Given the description of an element on the screen output the (x, y) to click on. 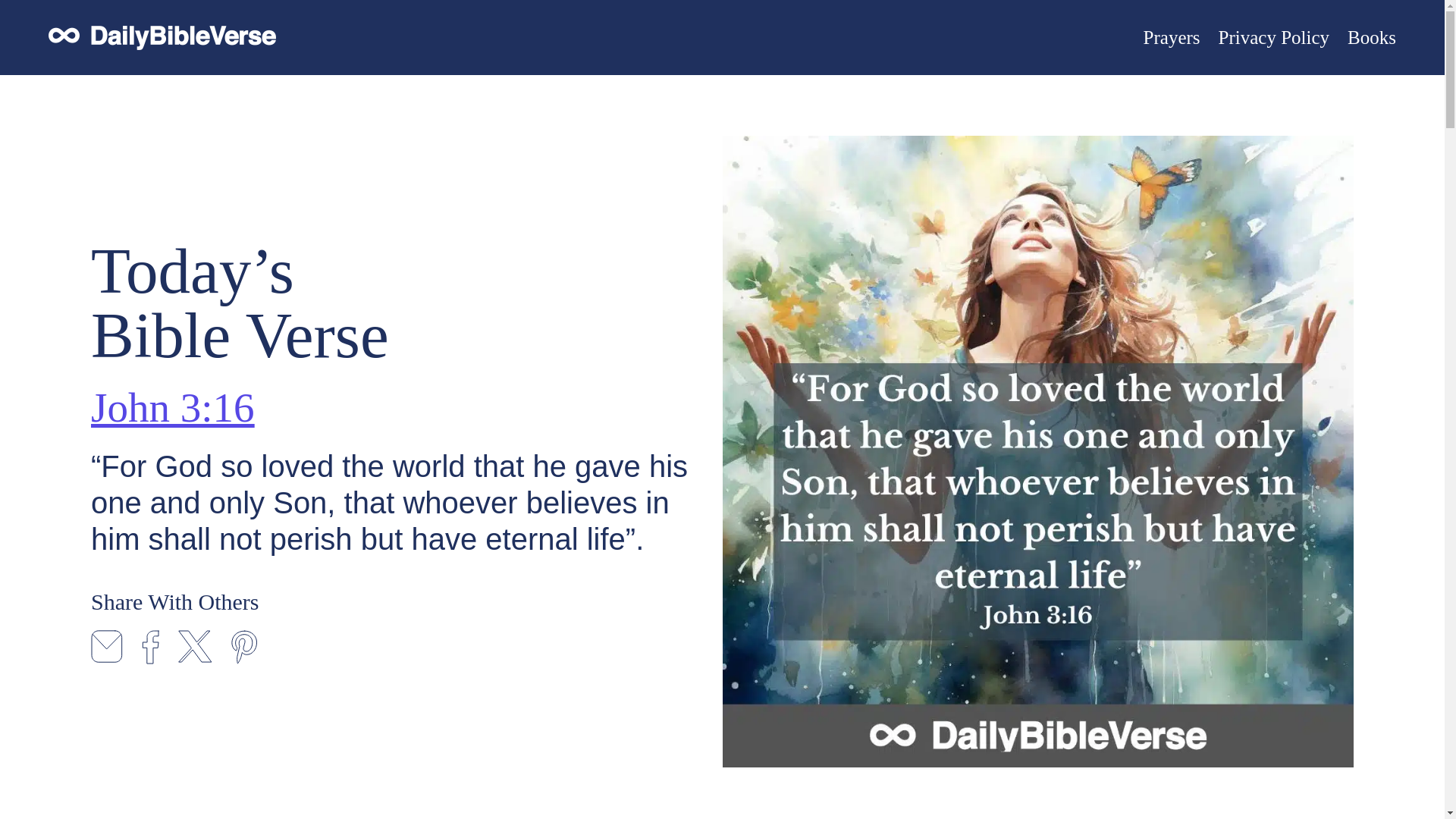
Books (1372, 37)
Prayers (1170, 37)
Privacy Policy (1274, 37)
John 3:16 (171, 406)
